Given the description of an element on the screen output the (x, y) to click on. 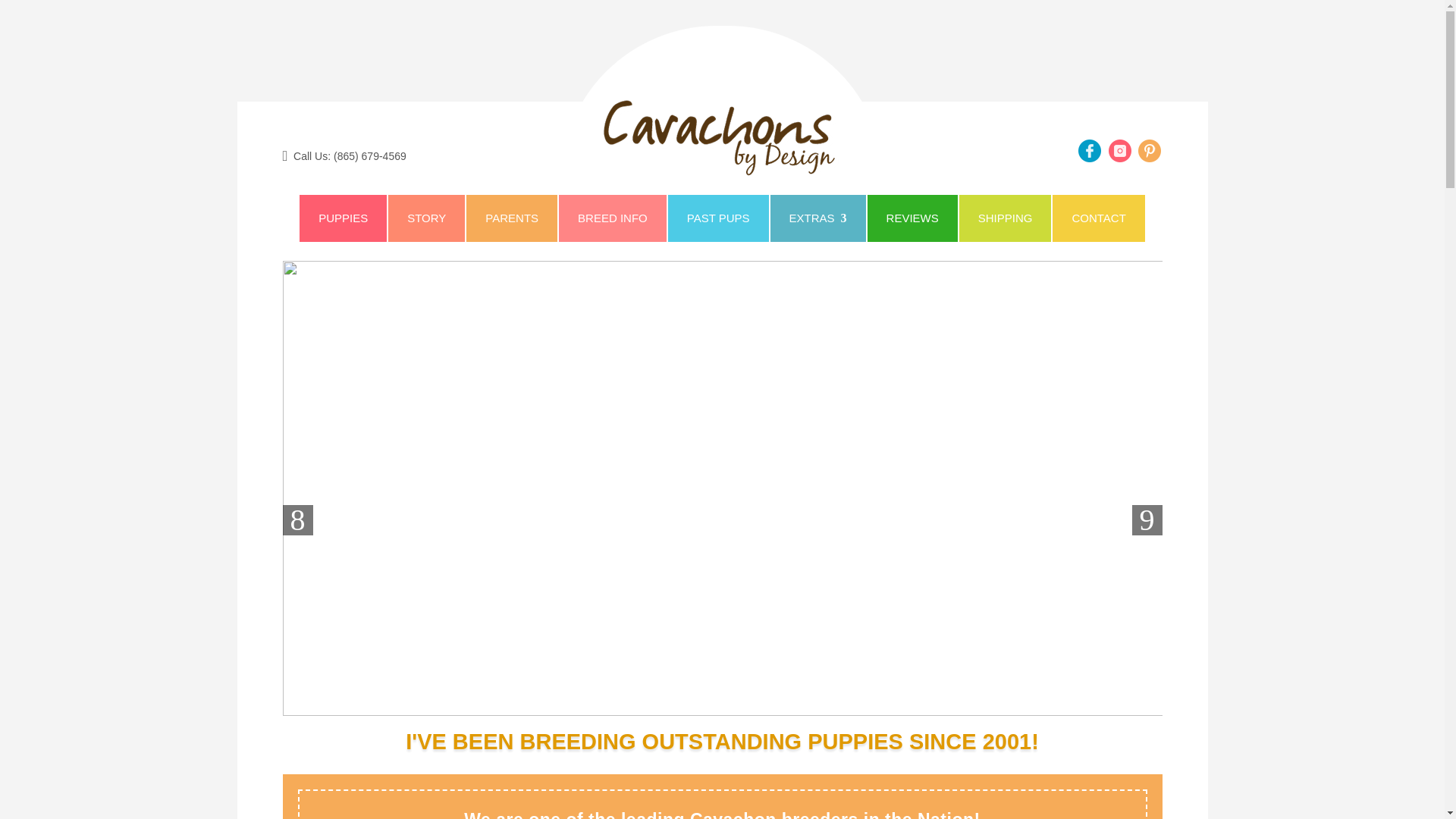
EXTRAS (818, 217)
BREED INFO (612, 217)
PUPPIES (343, 217)
STORY (426, 217)
logo-u348 (721, 136)
PARENTS (511, 217)
PAST PUPS (718, 217)
